Given the description of an element on the screen output the (x, y) to click on. 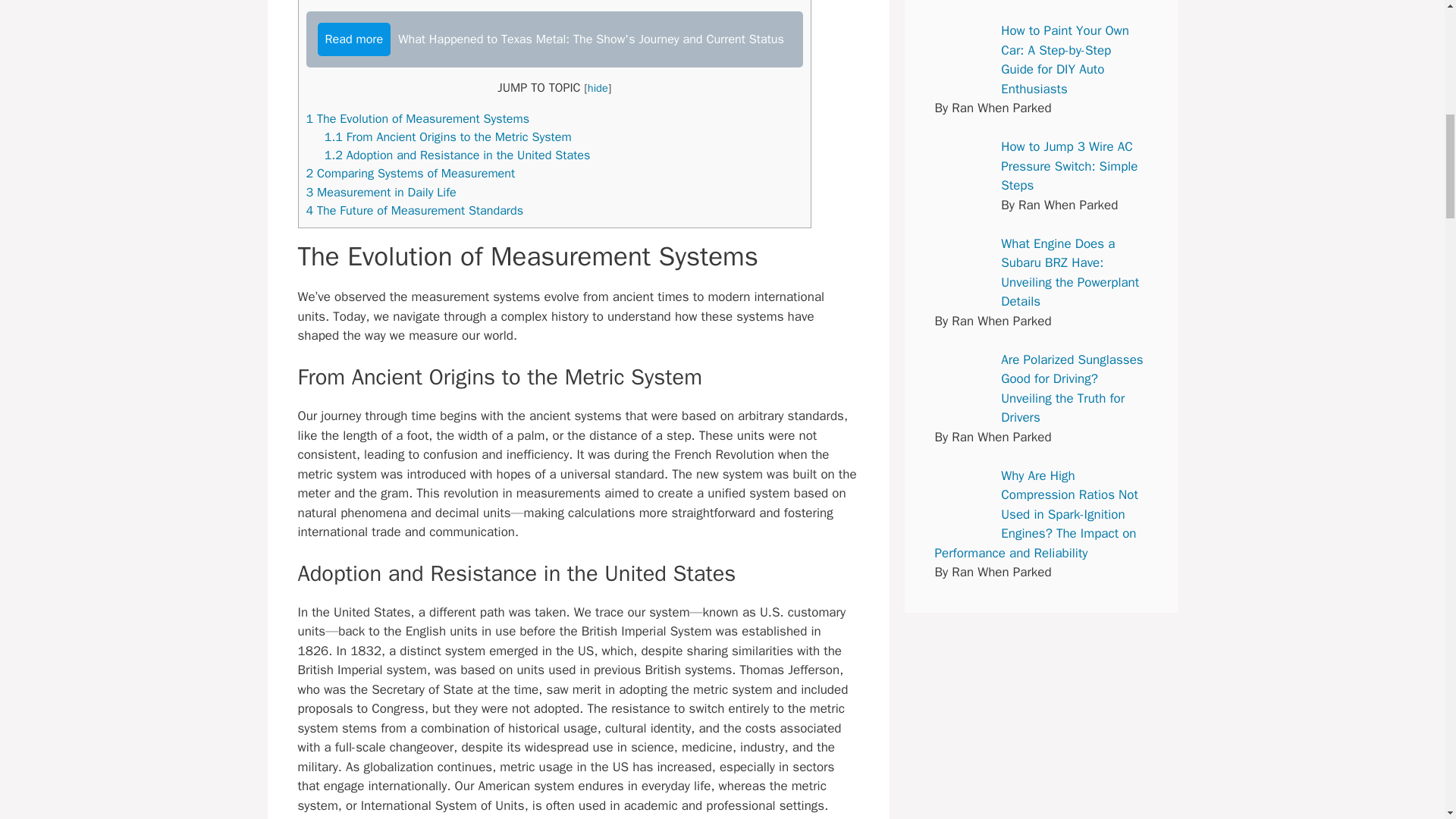
1 The Evolution of Measurement Systems (417, 118)
2 Comparing Systems of Measurement (410, 172)
3 Measurement in Daily Life (381, 191)
1.1 From Ancient Origins to the Metric System (448, 136)
hide (598, 88)
1.2 Adoption and Resistance in the United States (457, 154)
4 The Future of Measurement Standards (414, 210)
